Given the description of an element on the screen output the (x, y) to click on. 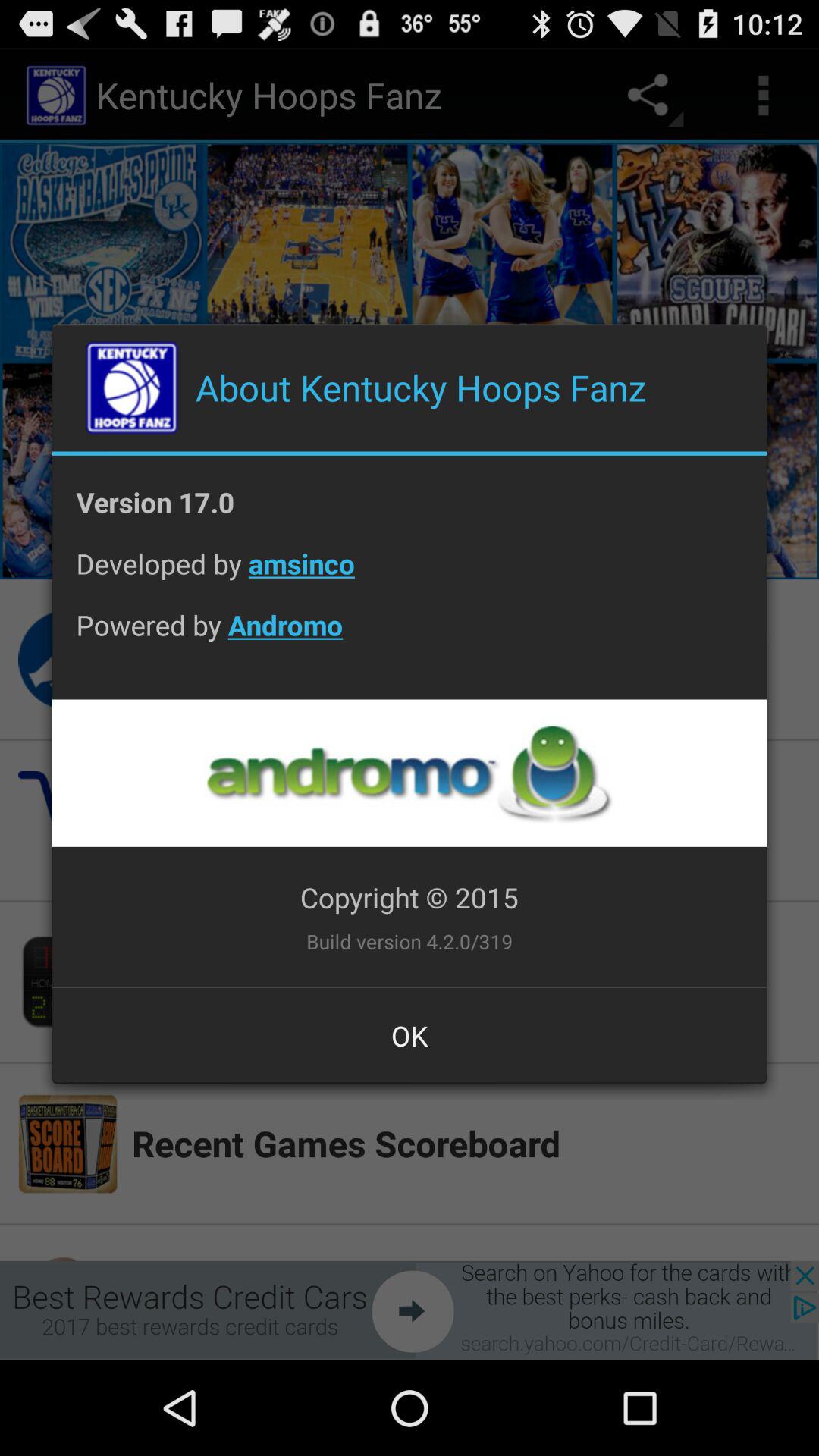
flip until powered by andromo item (409, 636)
